Given the description of an element on the screen output the (x, y) to click on. 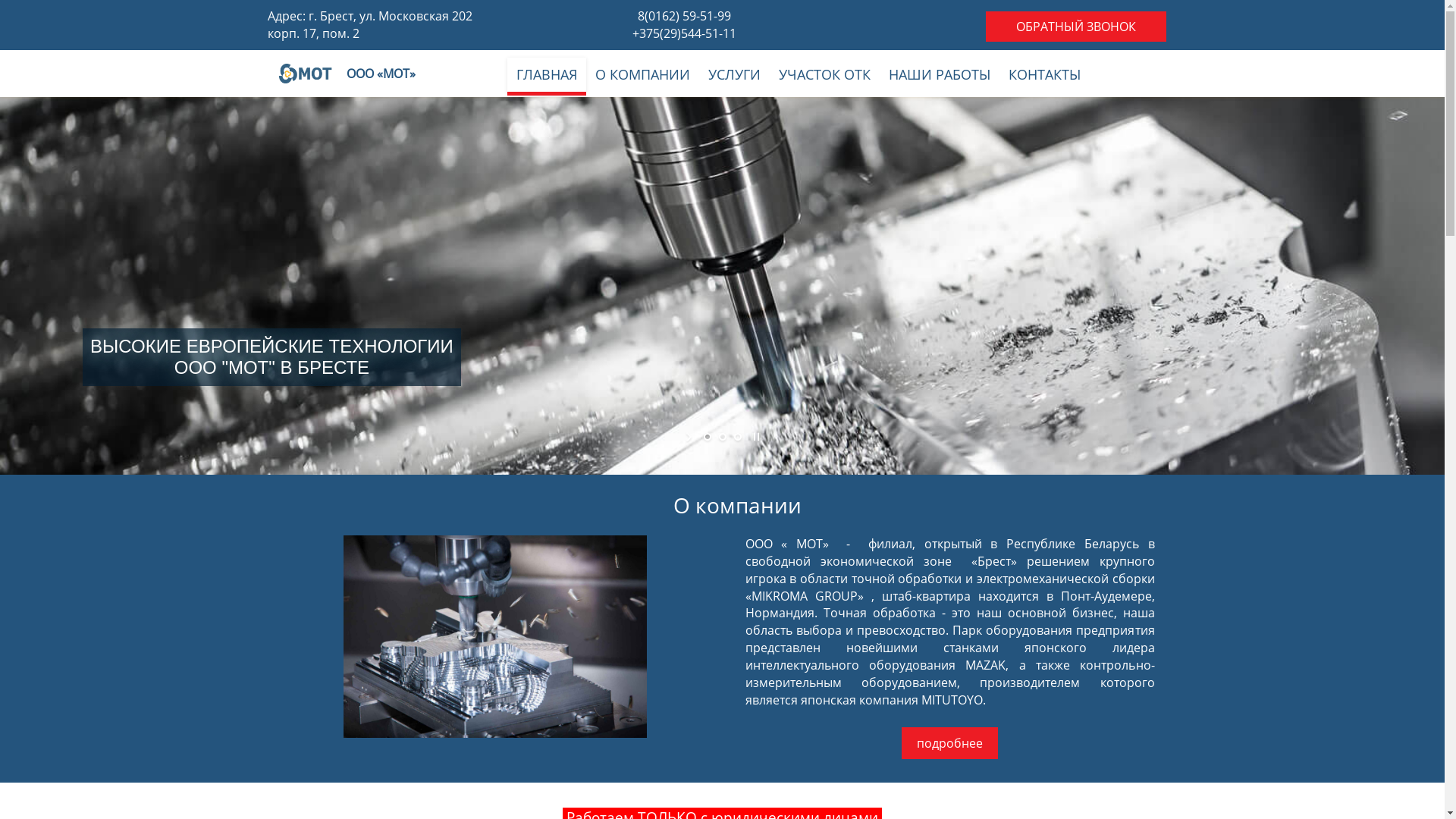
8(0162) 59-51-99 Element type: text (684, 15)
+375(29)544-51-11 Element type: text (684, 33)
